Given the description of an element on the screen output the (x, y) to click on. 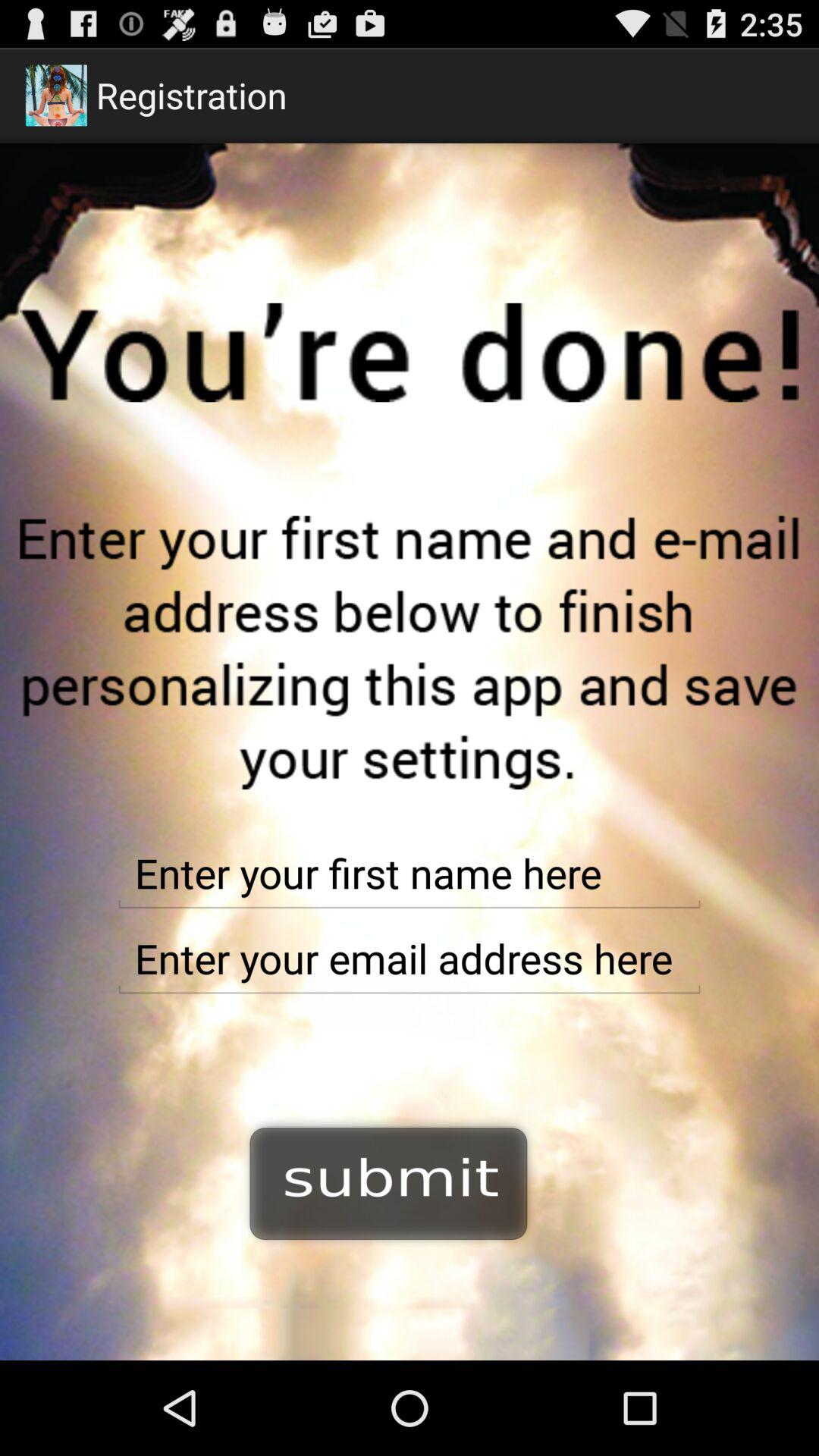
enter the email box (409, 958)
